Given the description of an element on the screen output the (x, y) to click on. 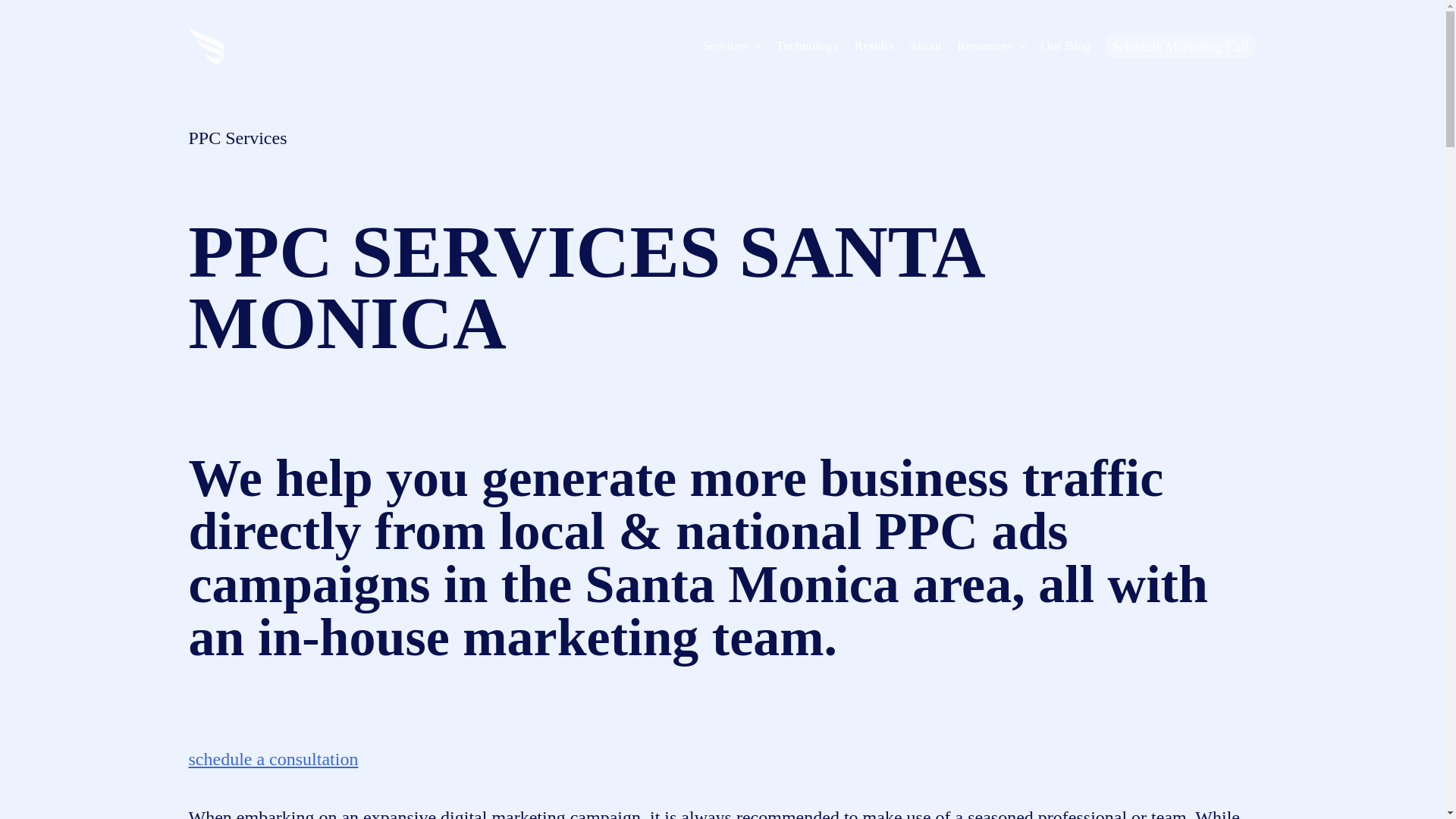
Resources (980, 45)
Services (721, 45)
About (925, 45)
Results (873, 45)
Technology (807, 45)
